Given the description of an element on the screen output the (x, y) to click on. 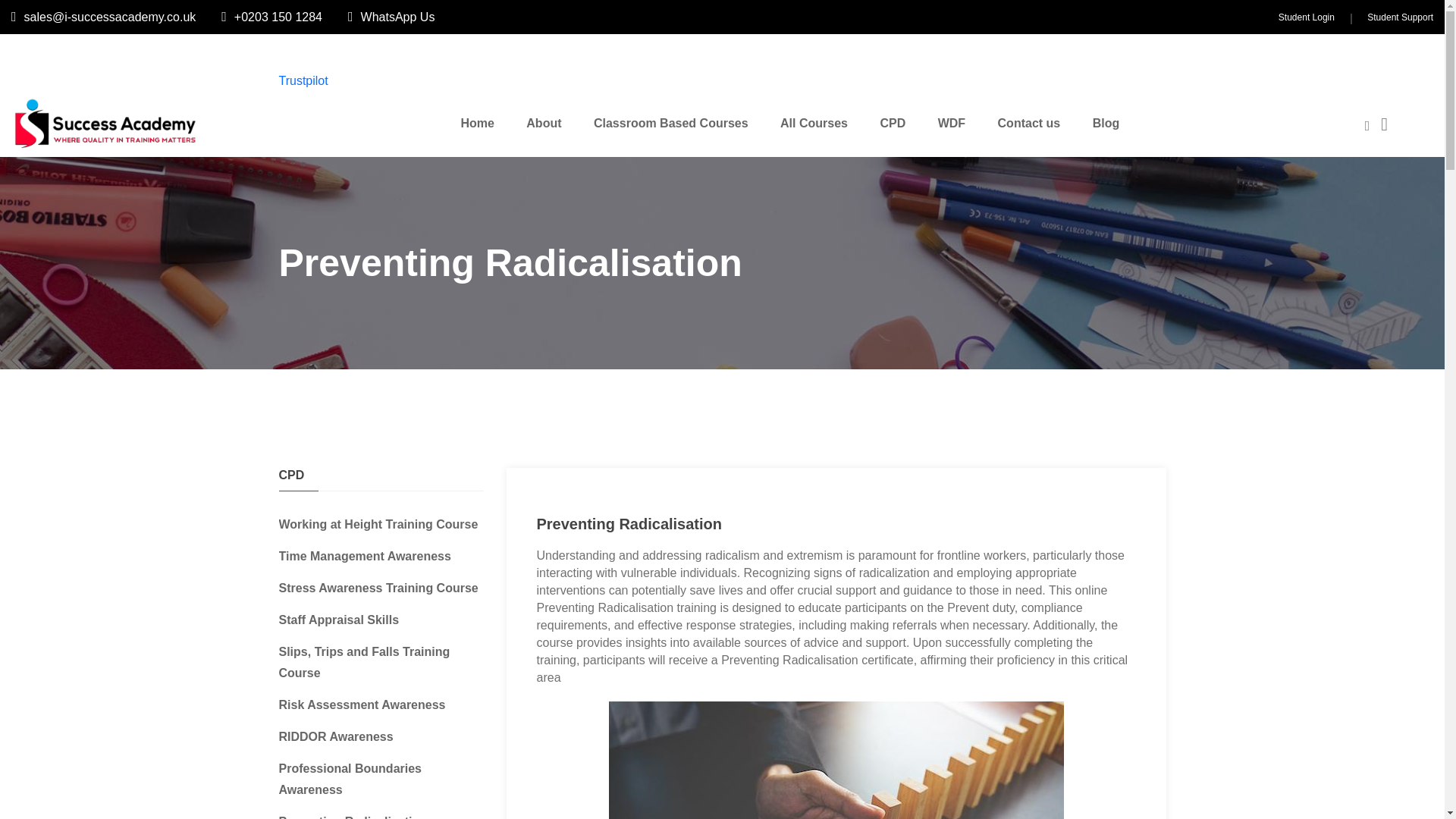
Student Support (1399, 17)
Trustpilot (304, 80)
Stress Awareness Training Course (379, 587)
Slips, Trips and Falls Training Course (364, 662)
All Courses (813, 123)
WhatsApp Us (390, 16)
Contact us (1029, 123)
About (543, 123)
Preventing Radicalisation (353, 816)
Classroom Based Courses (670, 123)
